Given the description of an element on the screen output the (x, y) to click on. 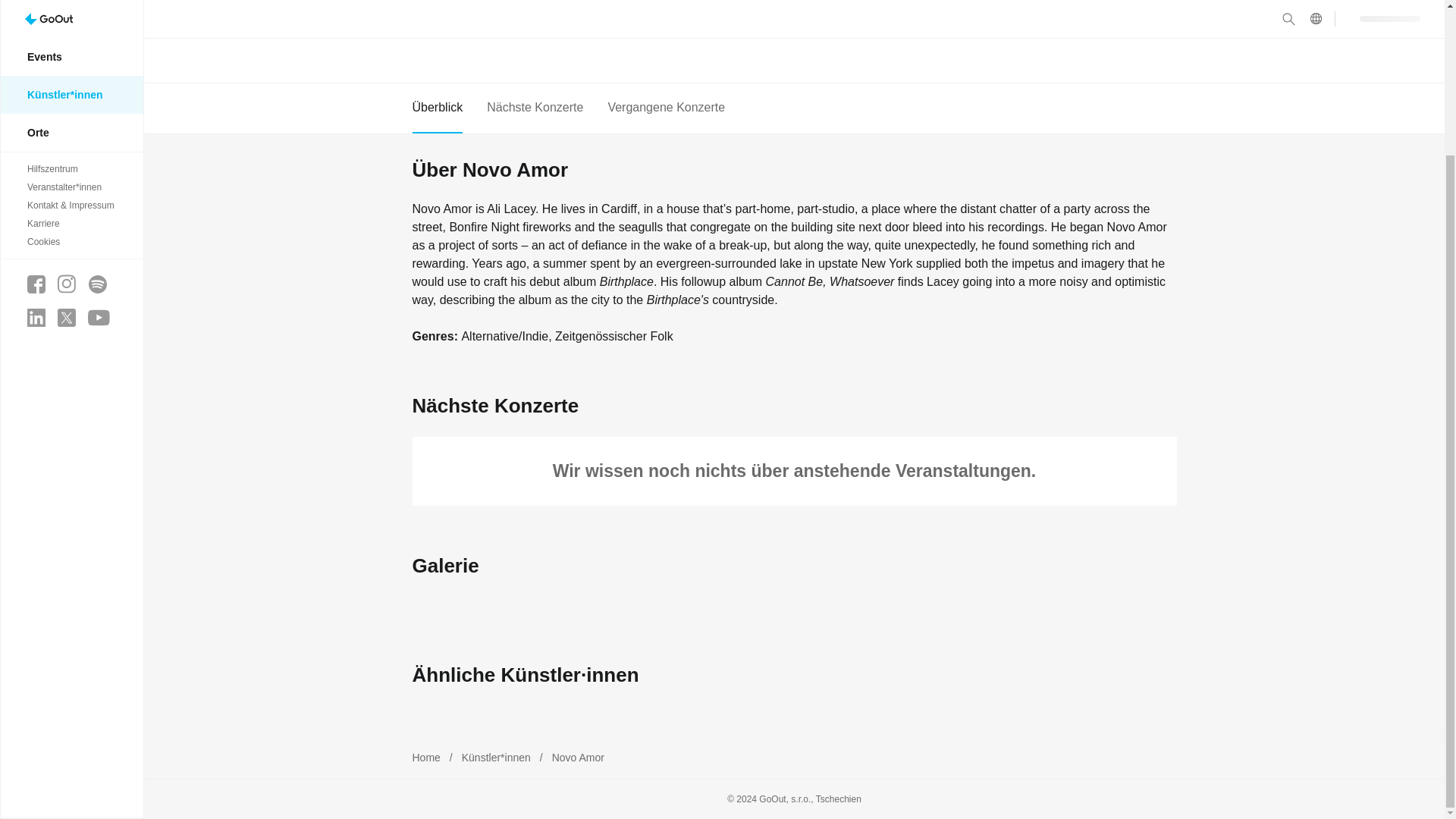
Home (426, 757)
Novo Amor (577, 757)
Karriere (71, 43)
Vergangene Konzerte (666, 108)
